Given the description of an element on the screen output the (x, y) to click on. 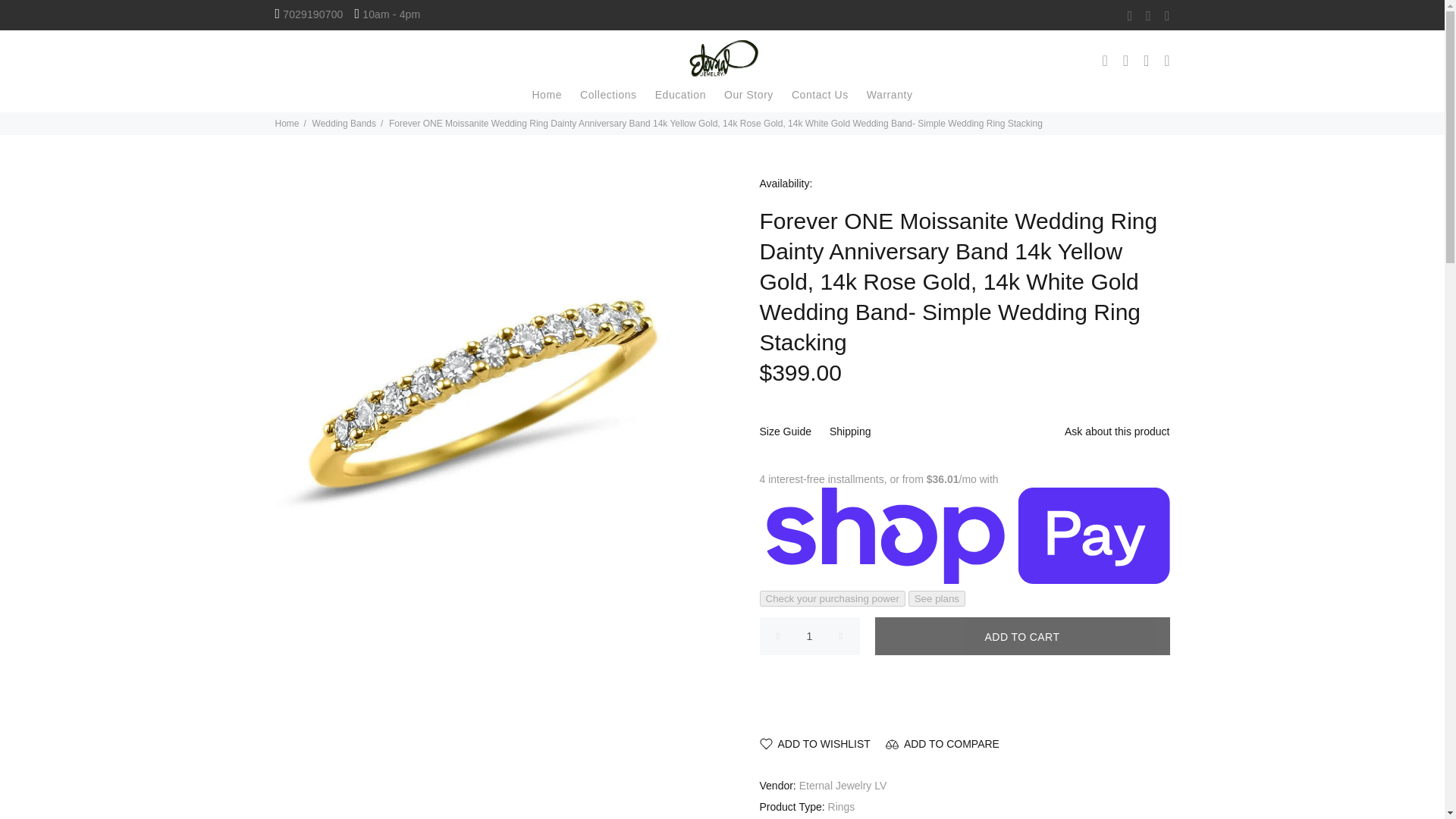
1 (810, 636)
Home (546, 96)
